Given the description of an element on the screen output the (x, y) to click on. 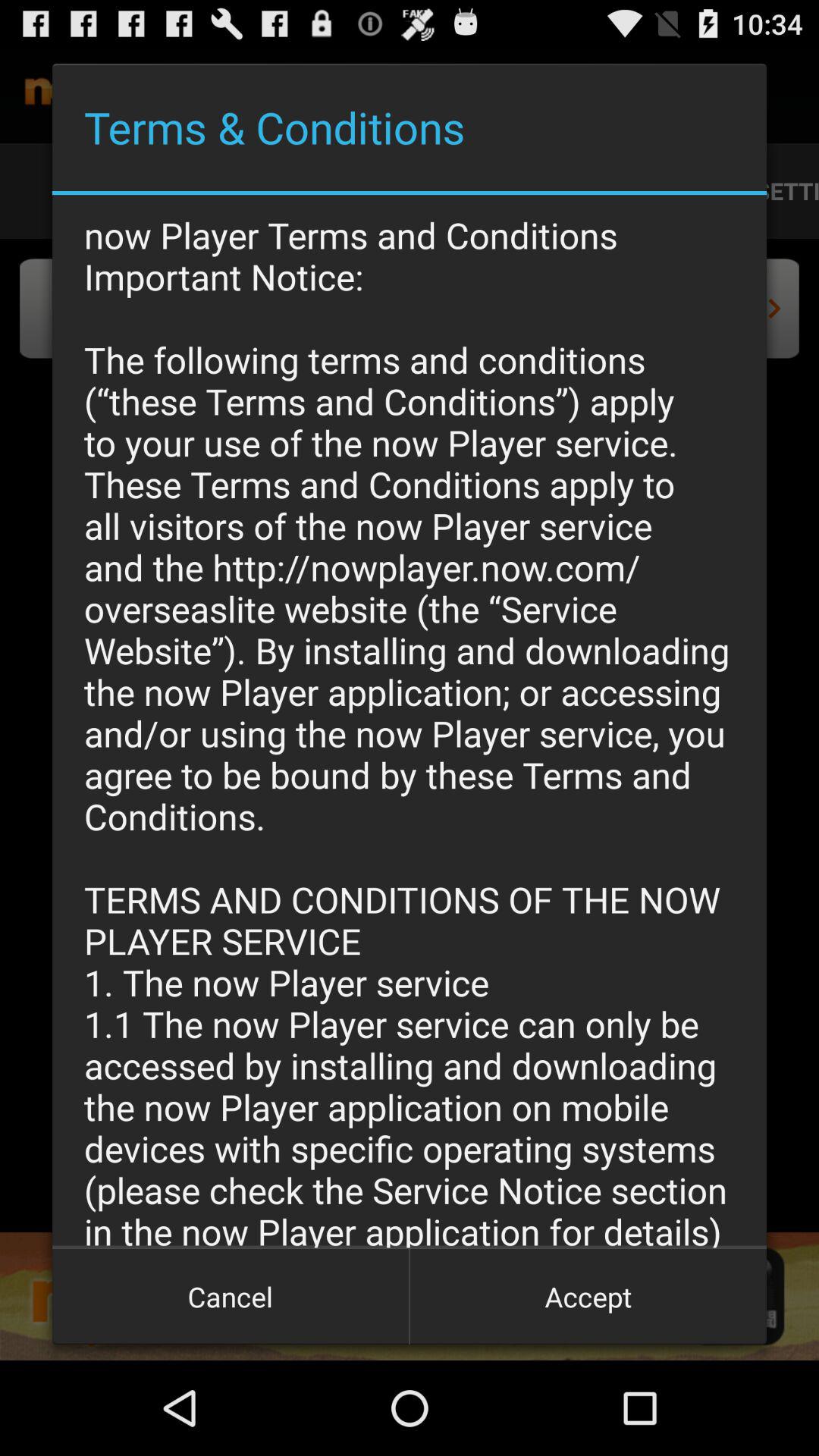
turn off button next to accept icon (230, 1296)
